Given the description of an element on the screen output the (x, y) to click on. 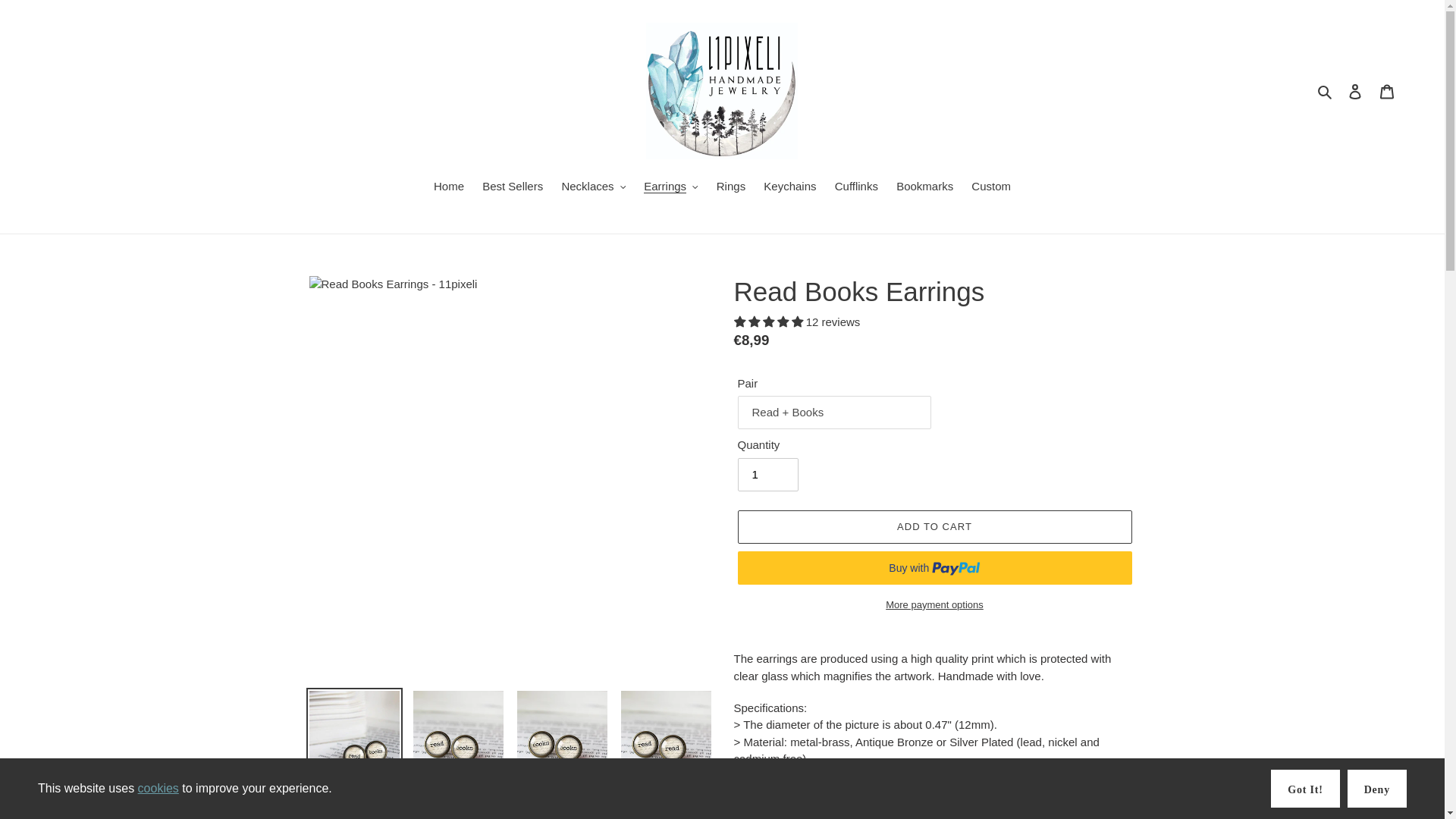
Home (448, 188)
Cart (1387, 91)
Best Sellers (512, 188)
Necklaces (593, 188)
Log in (1355, 91)
1 (766, 474)
Search (1326, 90)
Earrings (670, 188)
